Given the description of an element on the screen output the (x, y) to click on. 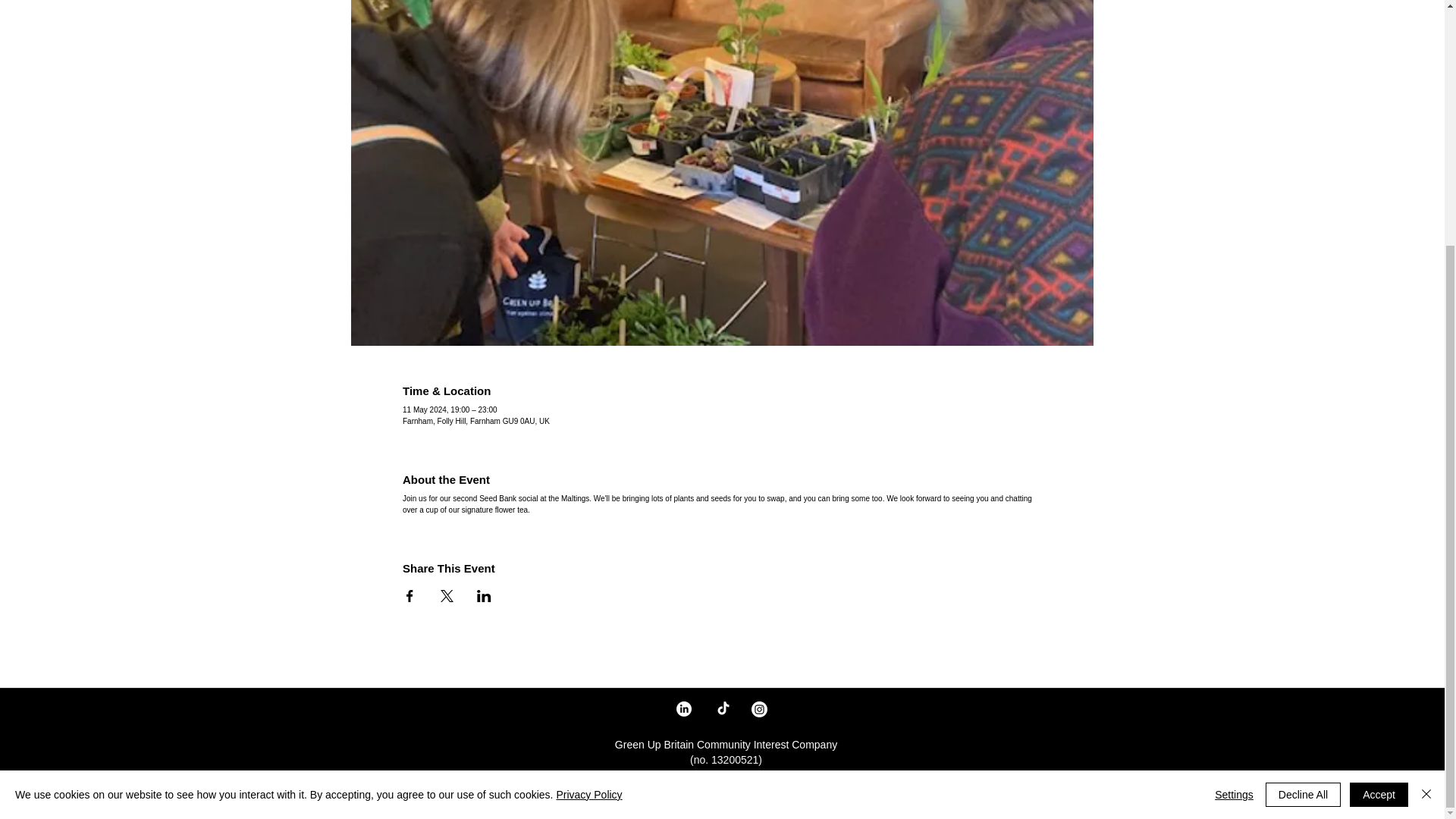
Privacy Policy (588, 453)
Decline All (1302, 453)
Accept (1378, 453)
